Given the description of an element on the screen output the (x, y) to click on. 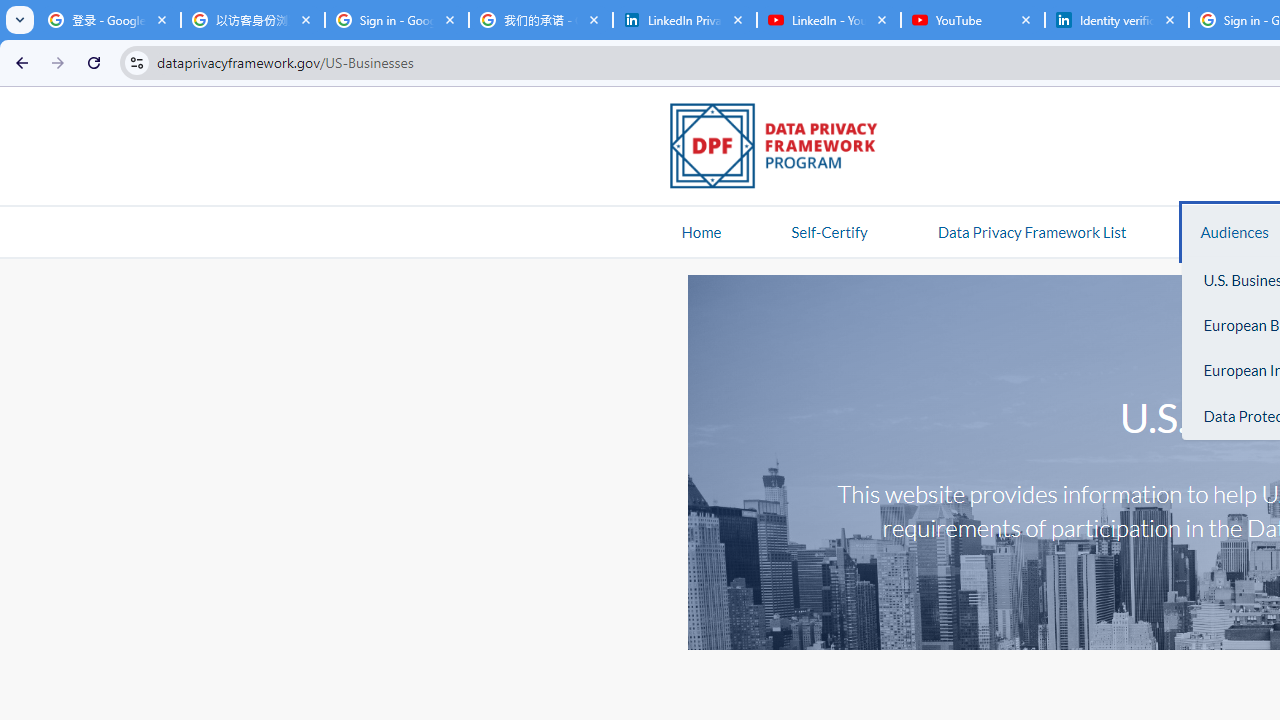
Data Privacy Framework Logo - Link to Homepage (783, 149)
LinkedIn - YouTube (828, 20)
Identity verification via Persona | LinkedIn Help (1116, 20)
Data Privacy Framework List (1031, 231)
LinkedIn Privacy Policy (684, 20)
Home (701, 231)
YouTube (972, 20)
